Given the description of an element on the screen output the (x, y) to click on. 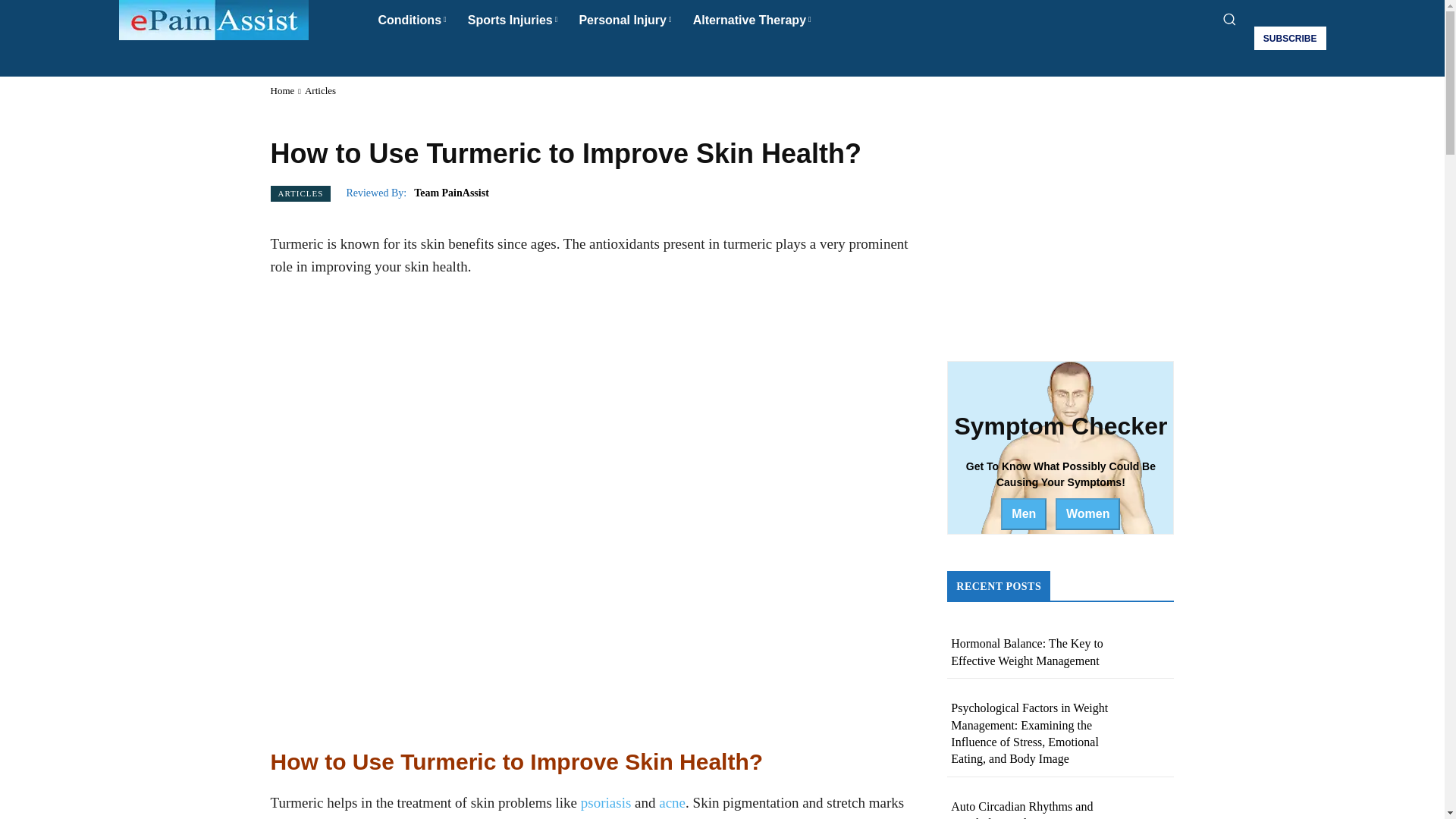
Hormonal Balance: The Key to Effective Weight Management (1026, 651)
Search (722, 55)
View all posts in Articles (320, 90)
